Given the description of an element on the screen output the (x, y) to click on. 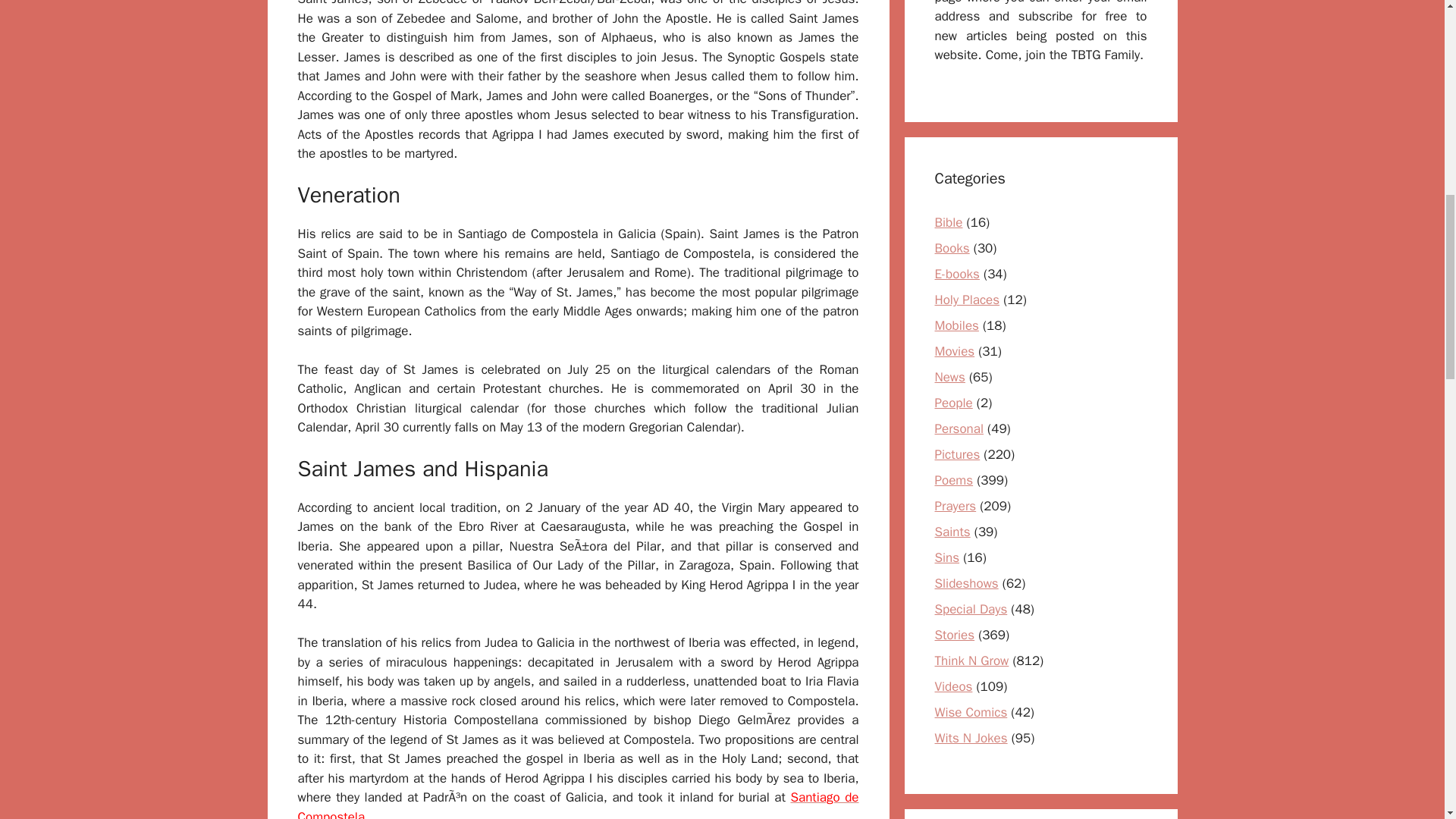
Santiago de Compostela. (578, 804)
Pics of Santiago de Compostela (578, 804)
